Given the description of an element on the screen output the (x, y) to click on. 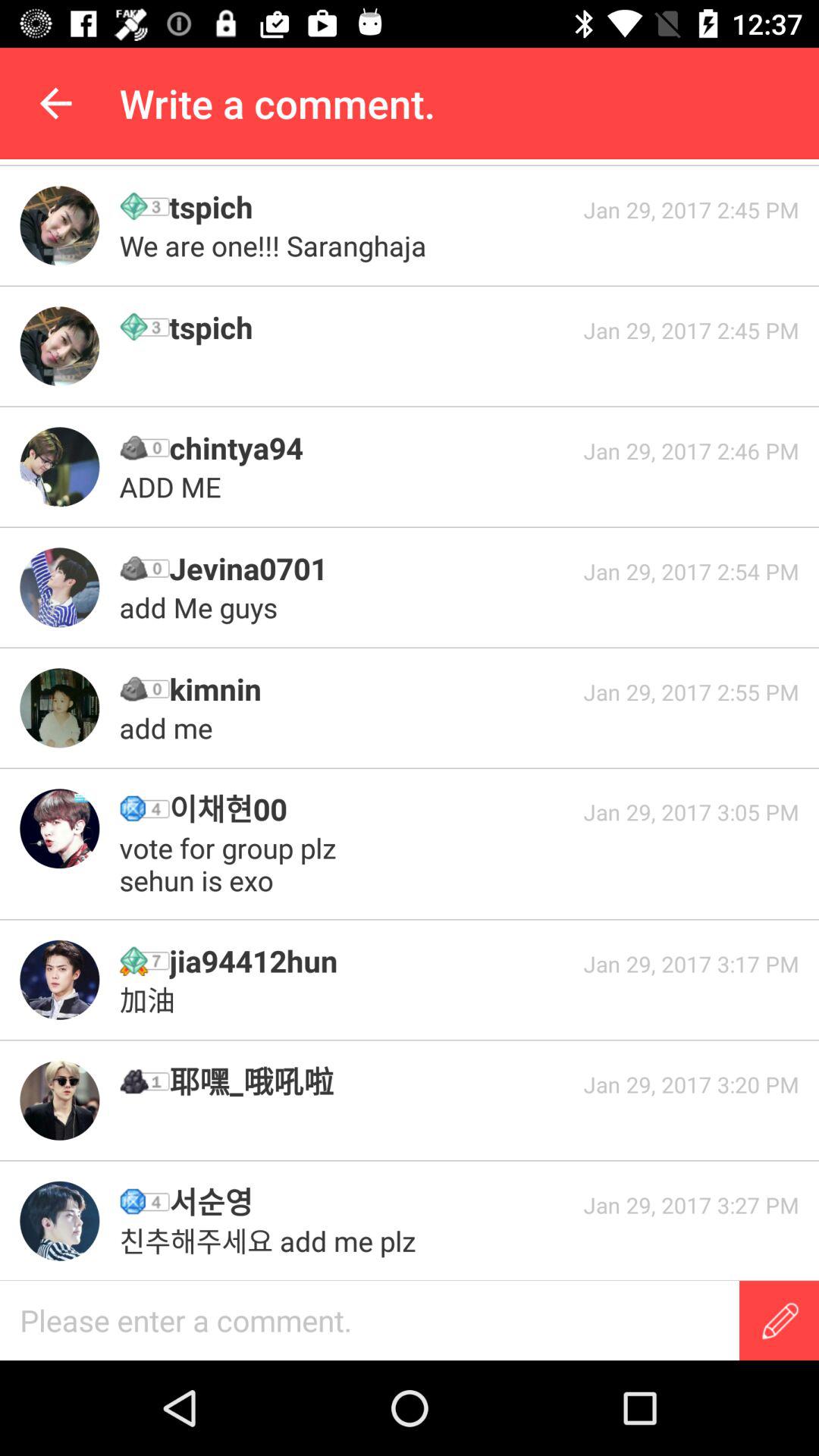
select the icon next to the jan 29 2017 icon (276, 245)
